Given the description of an element on the screen output the (x, y) to click on. 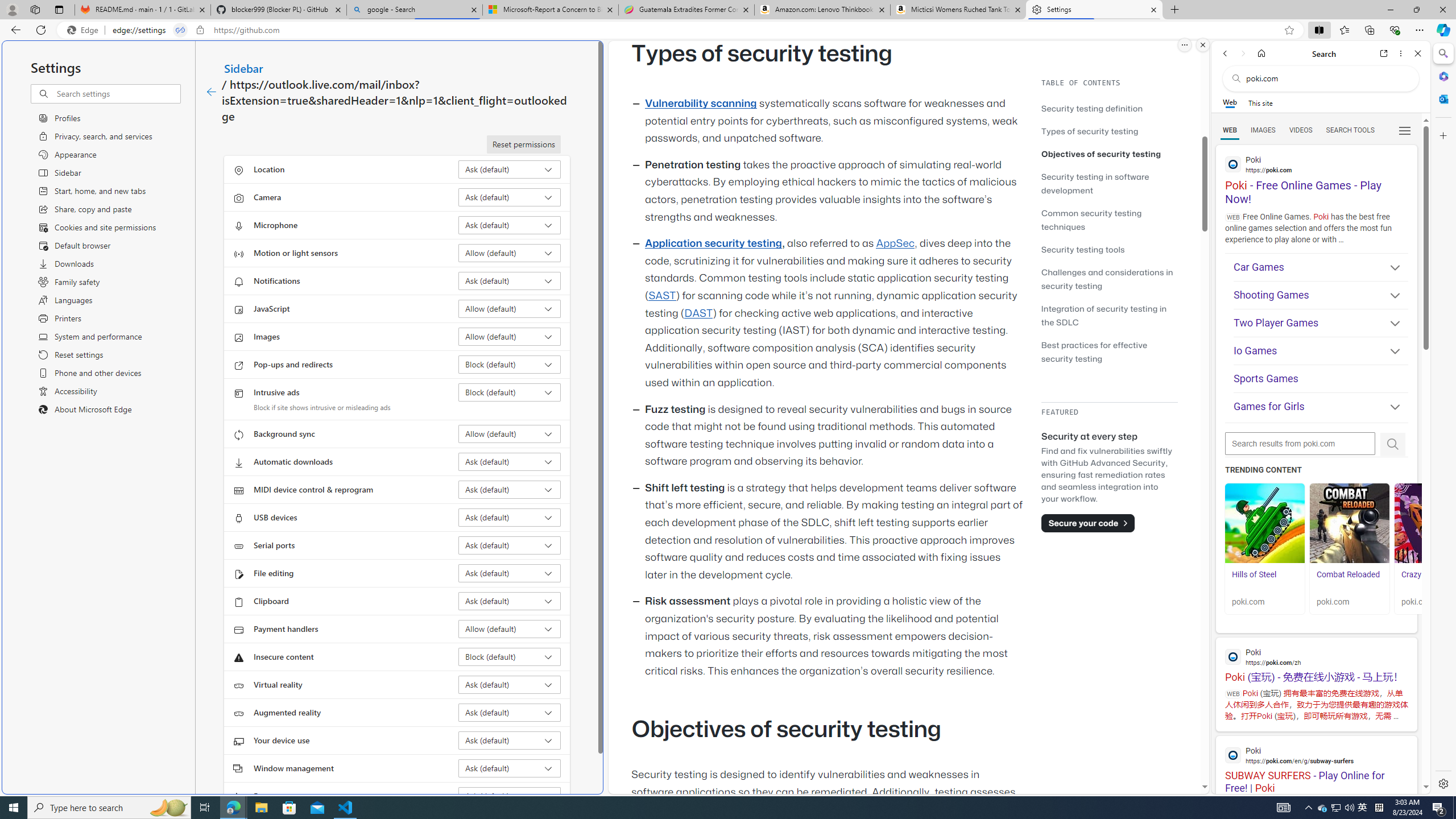
Secure your code (1088, 522)
USB devices Ask (default) (509, 517)
Edge (84, 29)
Challenges and considerations in security testing (1107, 278)
Hills of Steel (1253, 574)
Combat Reloaded (1349, 580)
Security testing tools (1109, 249)
Camera Ask (default) (509, 197)
MIDI device control & reprogram Ask (default) (509, 489)
Microsoft-Report a Concern to Bing (550, 9)
Forward (1242, 53)
